Given the description of an element on the screen output the (x, y) to click on. 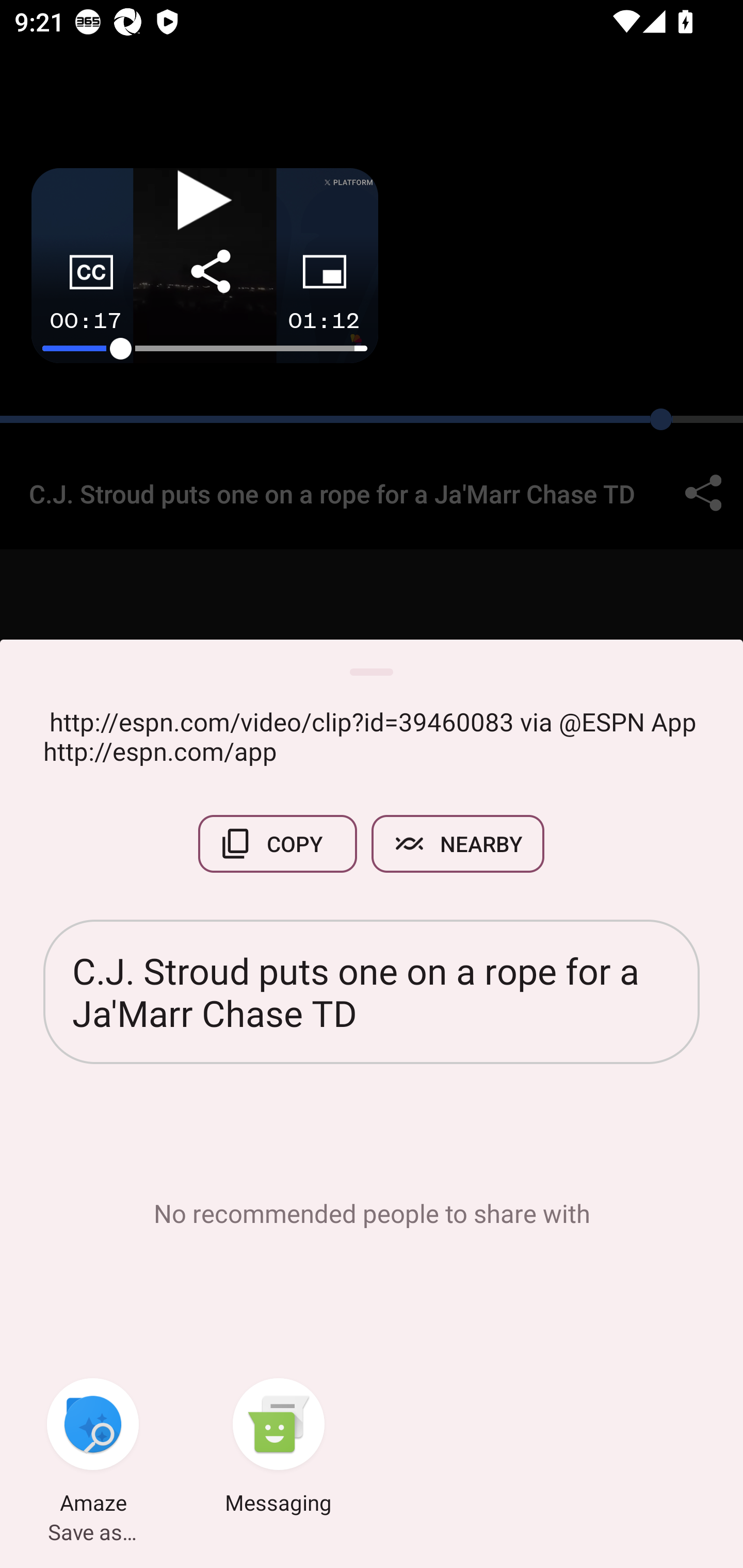
COPY (277, 844)
NEARBY (457, 844)
Amaze Save as… (92, 1448)
Messaging (278, 1448)
